Given the description of an element on the screen output the (x, y) to click on. 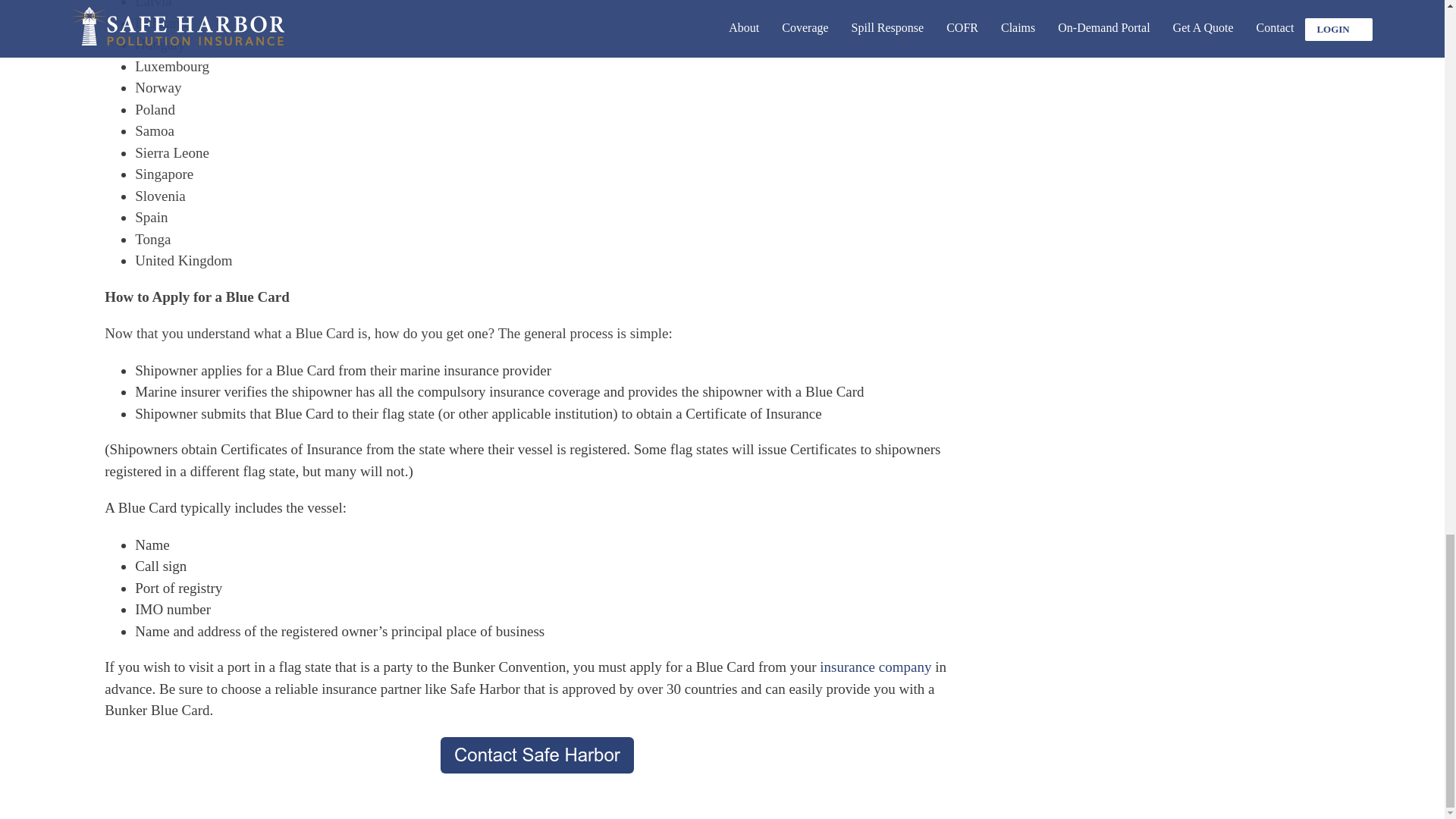
insurance company (875, 666)
